Given the description of an element on the screen output the (x, y) to click on. 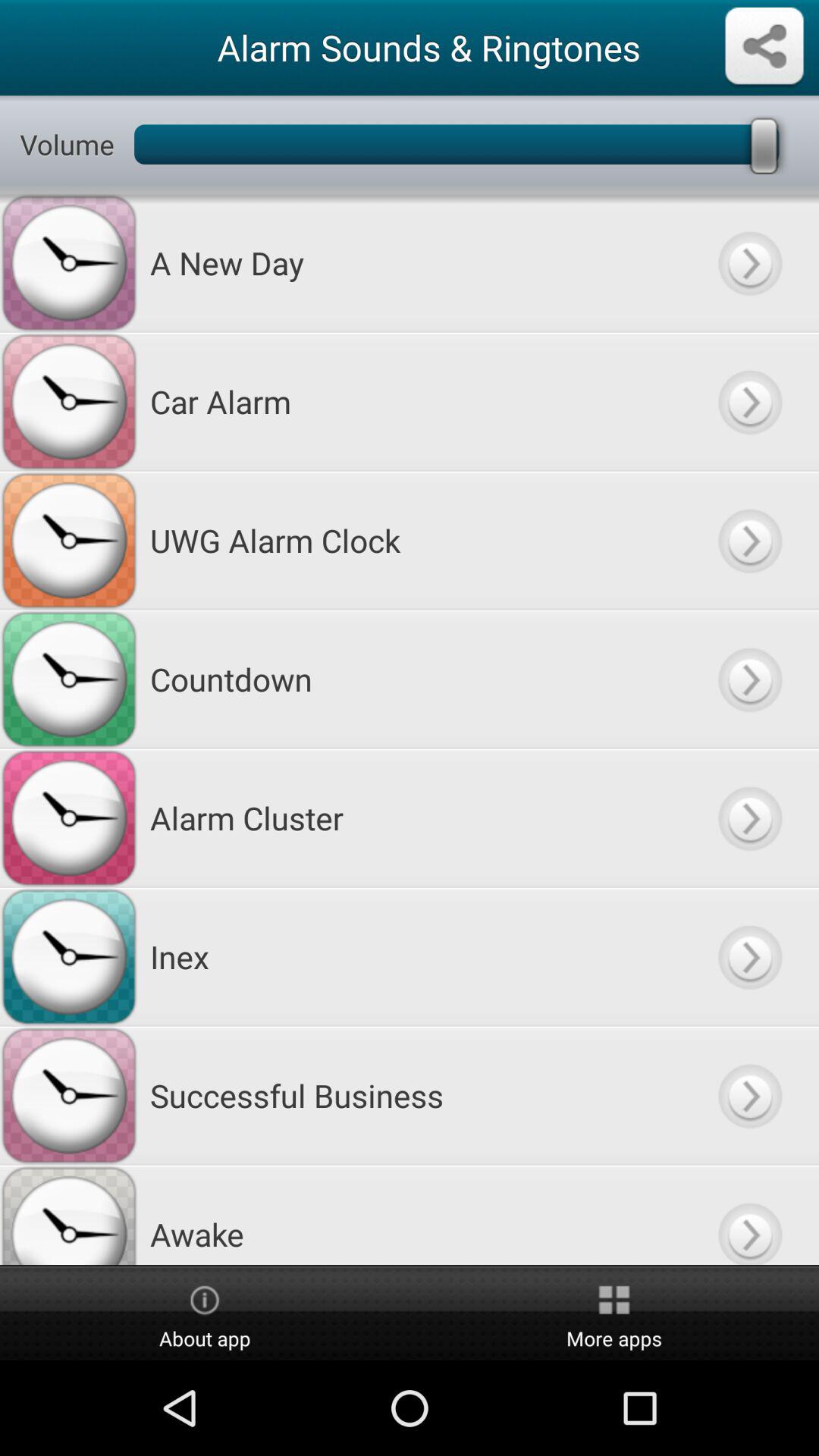
select alarm tone (749, 679)
